Given the description of an element on the screen output the (x, y) to click on. 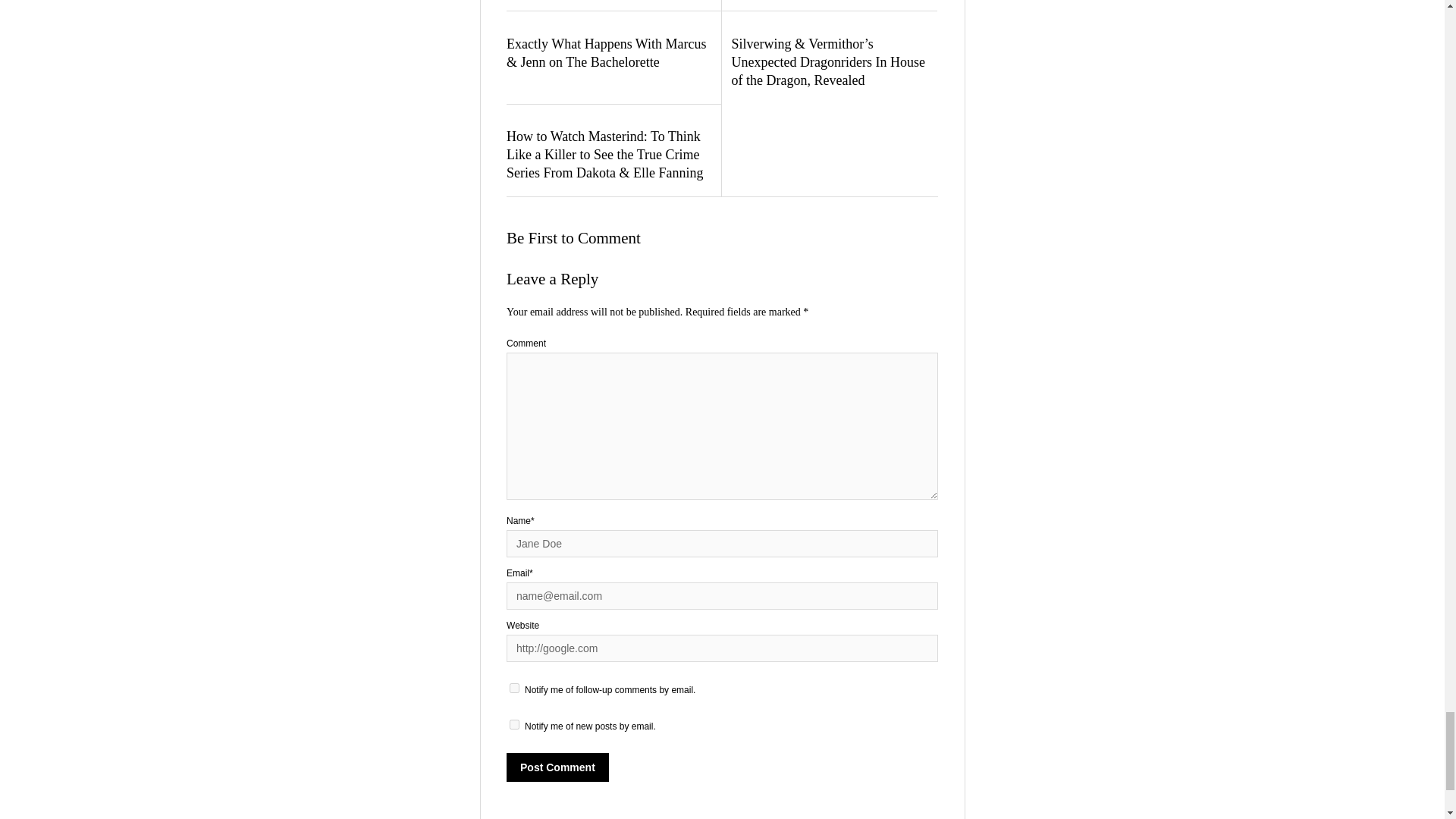
Post Comment (557, 767)
subscribe (514, 724)
subscribe (514, 687)
